Given the description of an element on the screen output the (x, y) to click on. 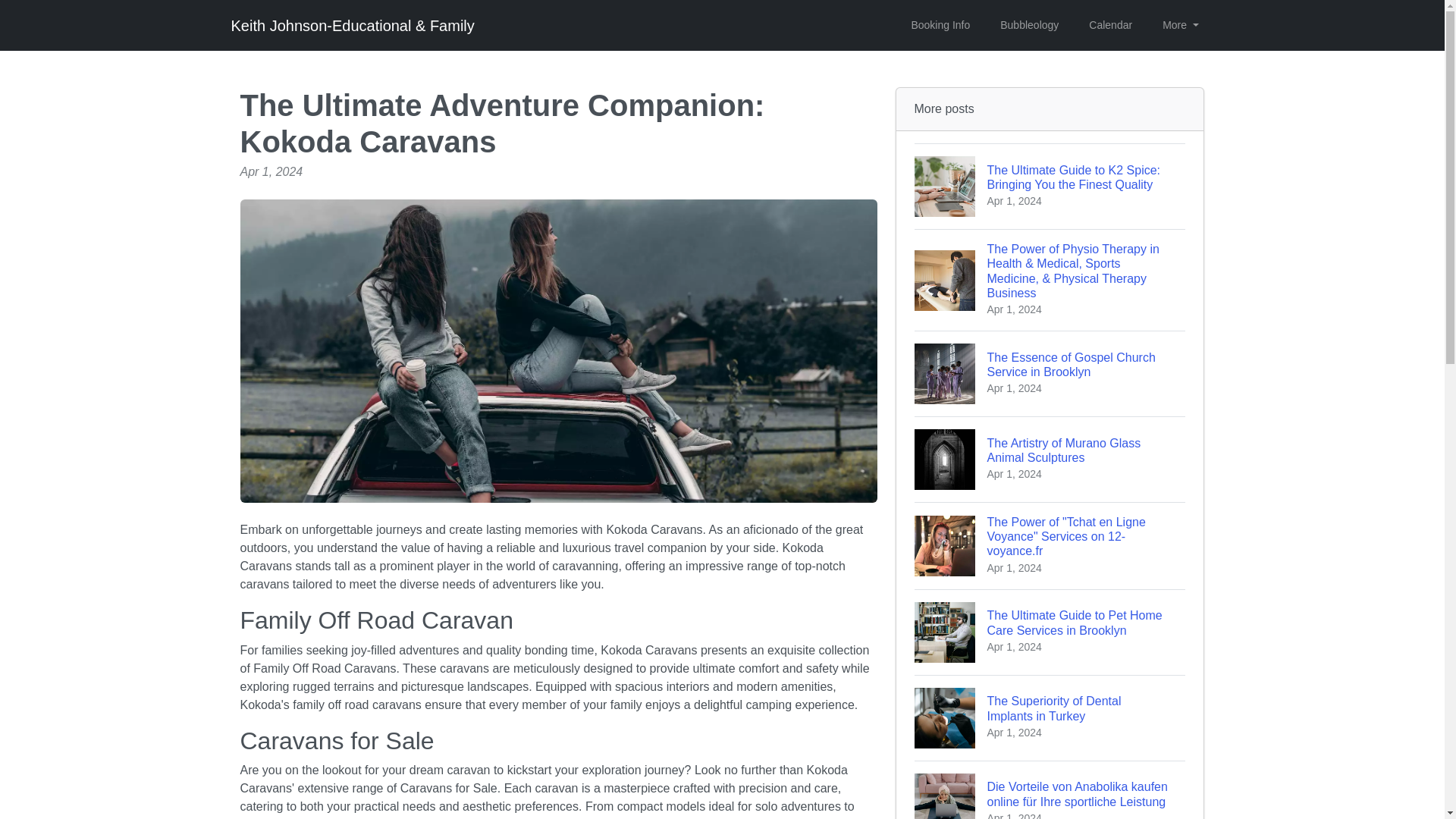
More (1180, 25)
Bubbleology (1029, 25)
Calendar (1050, 717)
Booking Info (1110, 25)
